Given the description of an element on the screen output the (x, y) to click on. 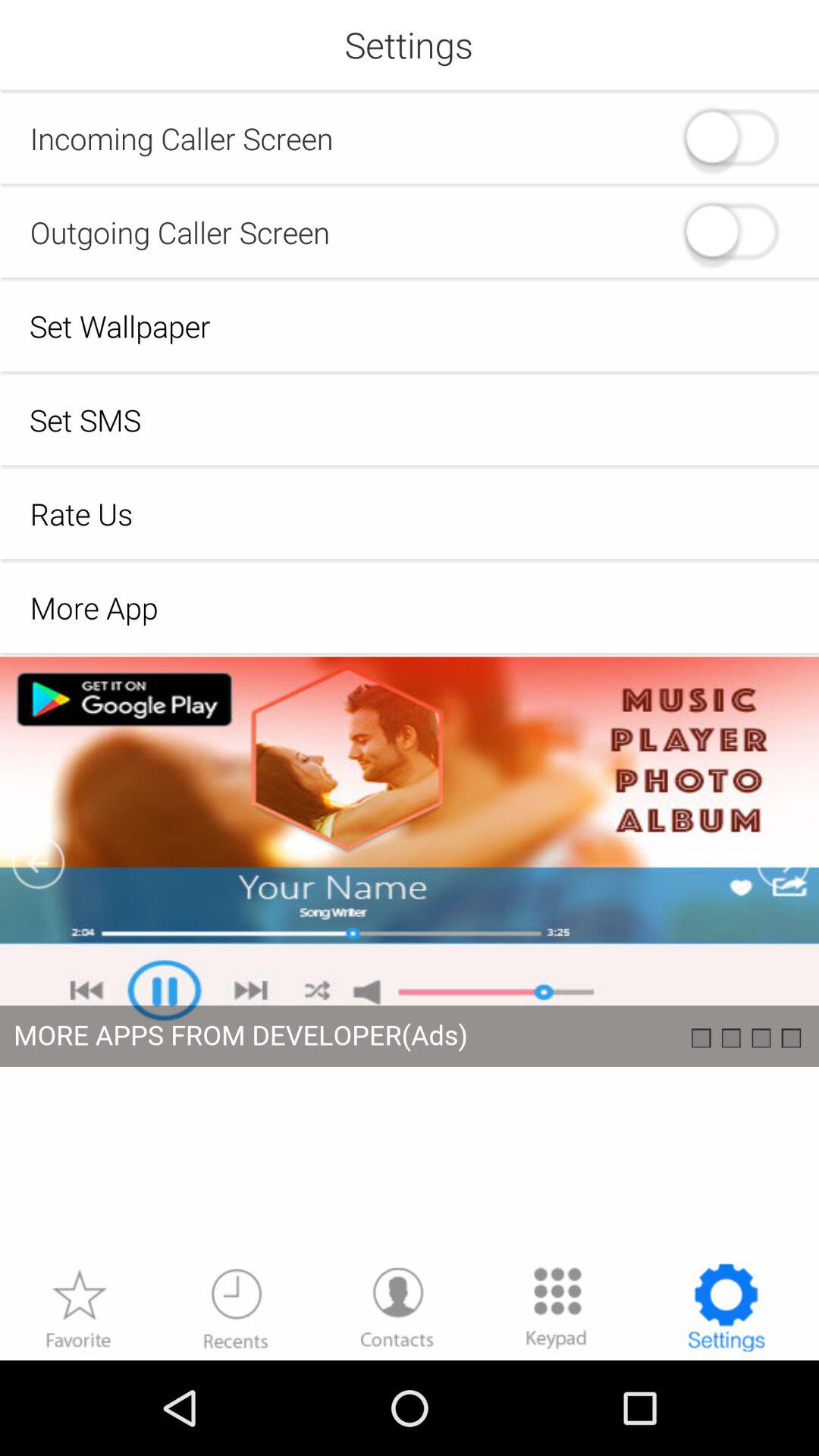
more options (556, 1307)
